Given the description of an element on the screen output the (x, y) to click on. 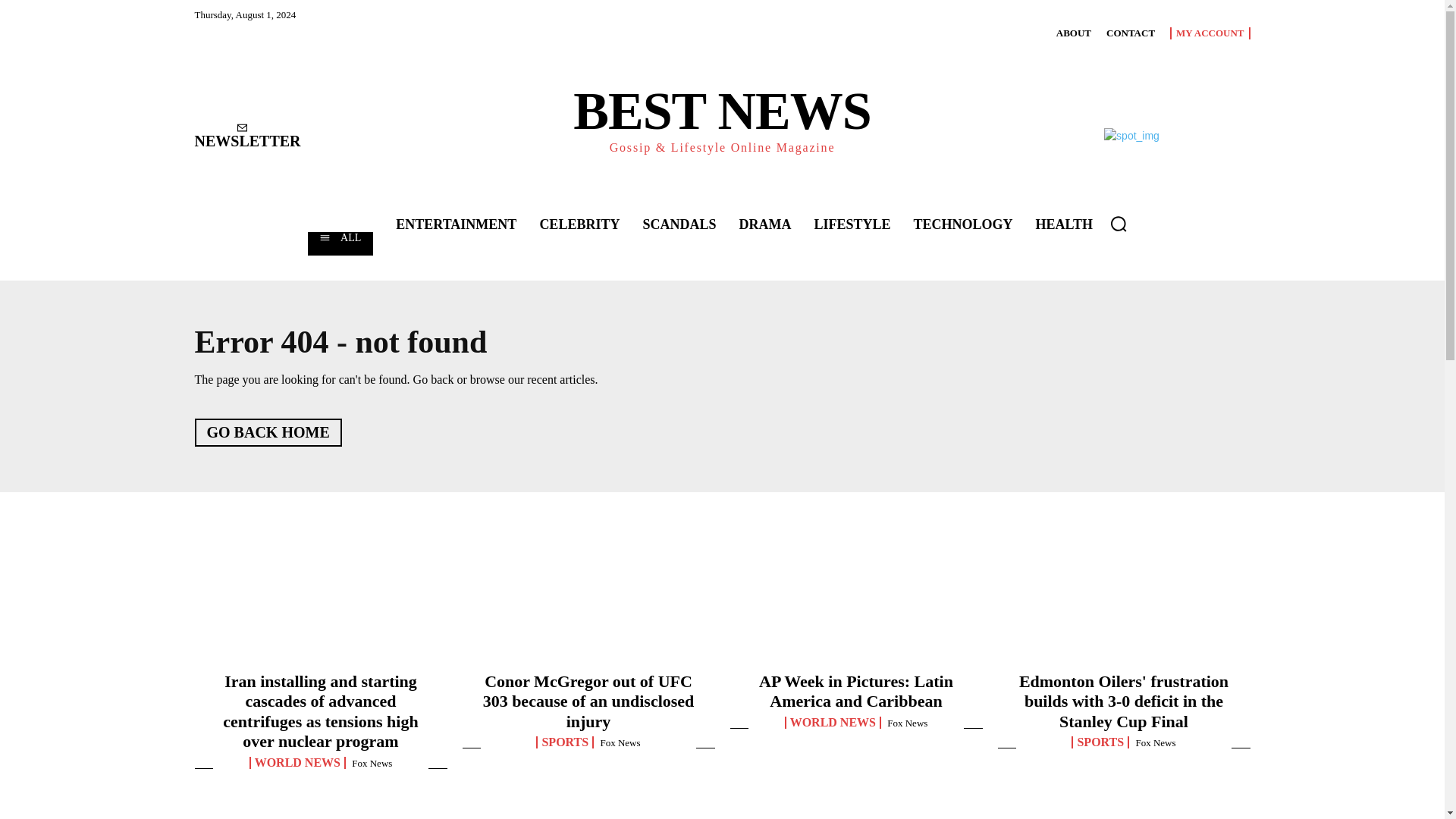
NEWSLETTER (246, 135)
Newsletter (246, 135)
ALL (339, 243)
CONTACT (1130, 33)
ABOUT (1073, 33)
All (339, 243)
